Given the description of an element on the screen output the (x, y) to click on. 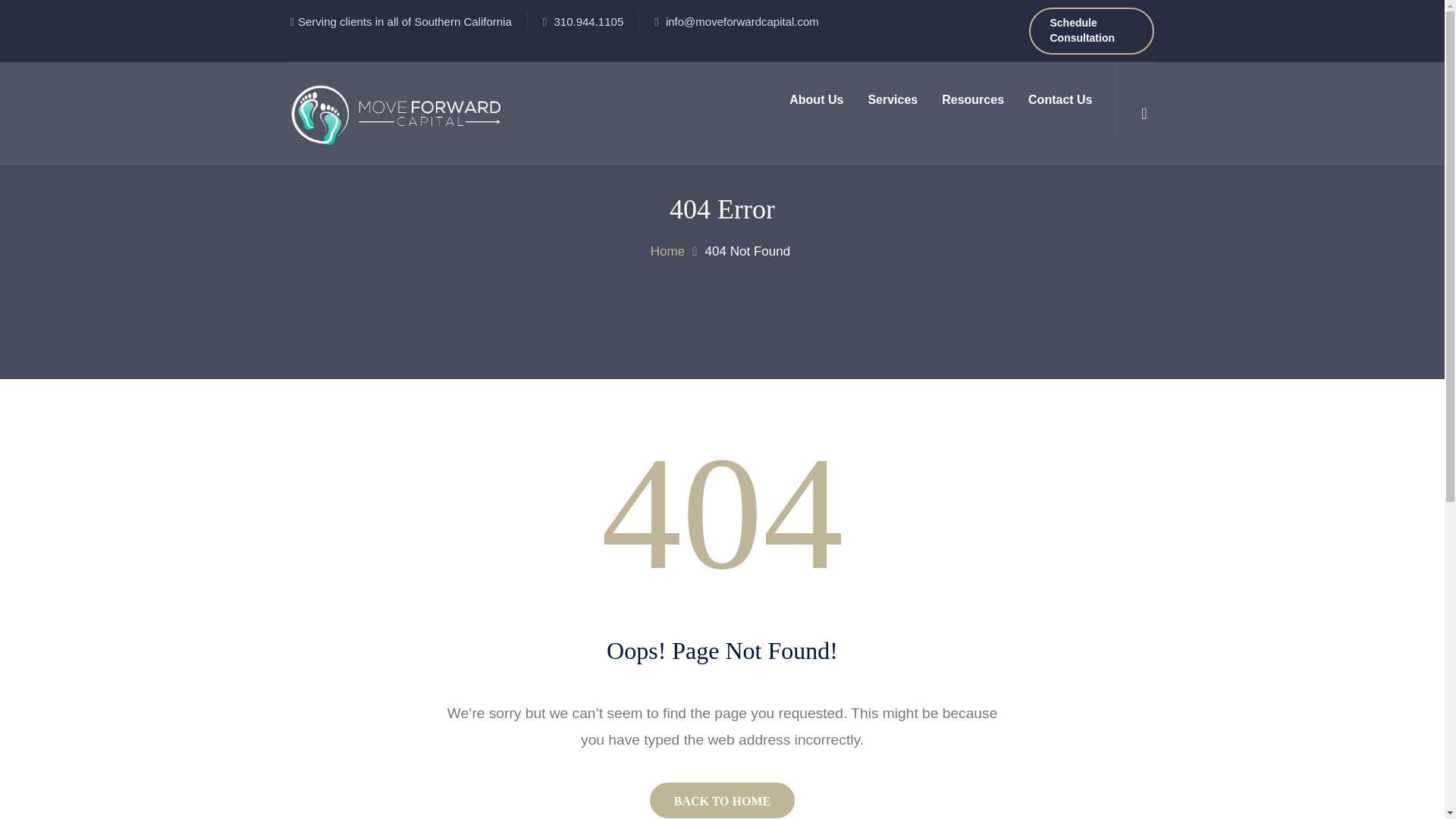
Schedule Consultation (1091, 30)
Contact Us (1059, 100)
Services (893, 100)
Home (667, 251)
Resources (973, 100)
About Us (816, 100)
BACK TO HOME (721, 800)
